Given the description of an element on the screen output the (x, y) to click on. 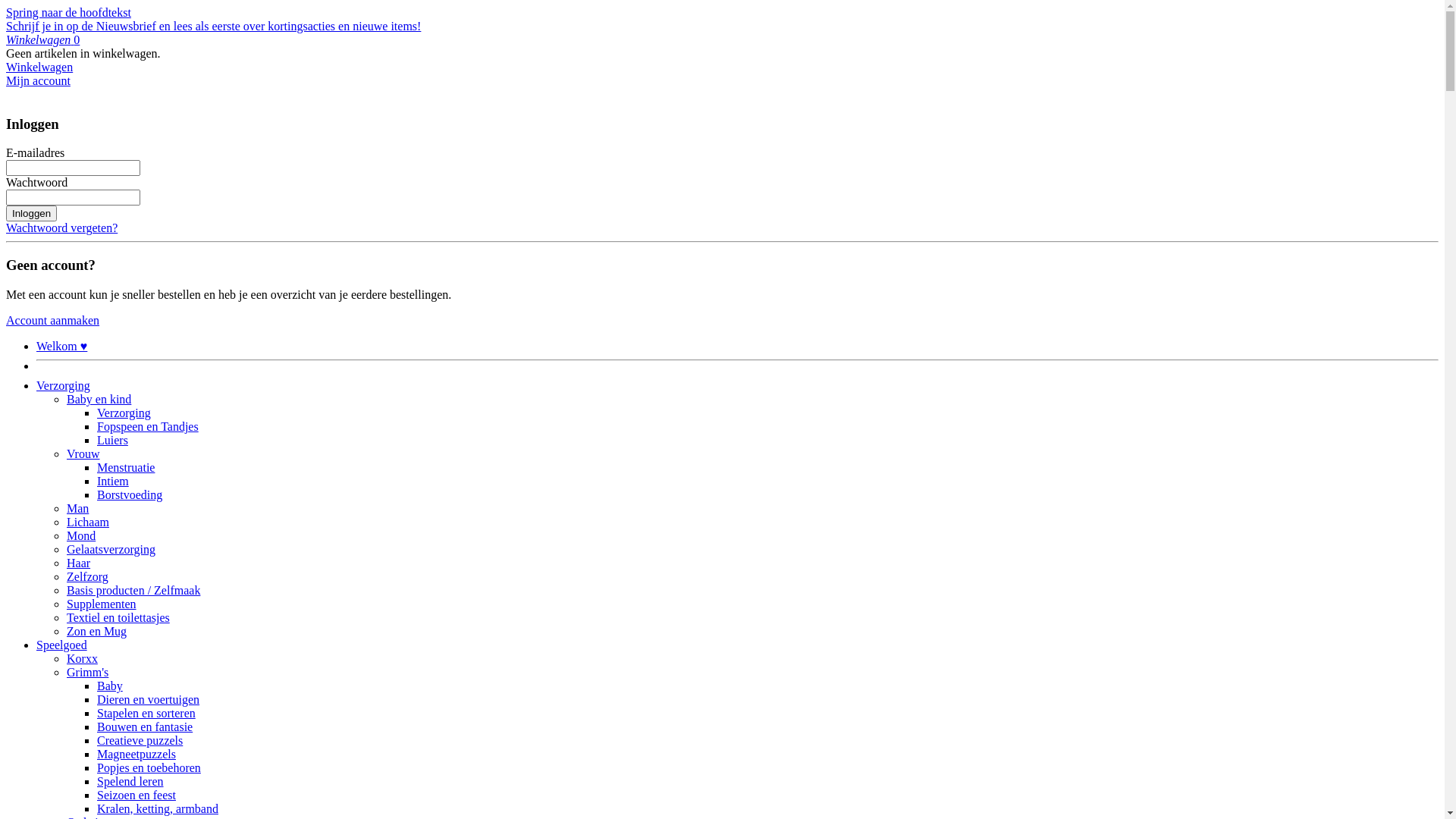
Winkelwagen 0 Element type: text (42, 39)
Verzorging Element type: text (63, 385)
Popjes en toebehoren Element type: text (148, 767)
Lichaam Element type: text (87, 521)
Winkelwagen Element type: text (39, 66)
Creatieve puzzels Element type: text (139, 740)
Vrouw Element type: text (82, 453)
Gelaatsverzorging Element type: text (110, 548)
Supplementen Element type: text (101, 603)
Fopspeen en Tandjes Element type: text (147, 426)
Speelgoed Element type: text (61, 644)
Mond Element type: text (80, 535)
Account aanmaken Element type: text (52, 319)
Baby en kind Element type: text (98, 398)
Wachtwoord vergeten? Element type: text (61, 227)
Korxx Element type: text (81, 658)
Menstruatie Element type: text (125, 467)
Magneetpuzzels Element type: text (136, 753)
Spring naar de hoofdtekst Element type: text (68, 12)
Zon en Mug Element type: text (96, 630)
Kralen, ketting, armband Element type: text (157, 808)
Spelend leren Element type: text (130, 781)
Dieren en voertuigen Element type: text (148, 699)
Verzorging Element type: text (123, 412)
Stapelen en sorteren Element type: text (146, 712)
Zelfzorg Element type: text (87, 576)
Textiel en toilettasjes Element type: text (117, 617)
Mijn account Element type: text (38, 80)
Haar Element type: text (78, 562)
Grimm's Element type: text (87, 671)
Intiem Element type: text (112, 480)
Inloggen Element type: text (31, 213)
Seizoen en feest Element type: text (136, 794)
Man Element type: text (77, 508)
Baby Element type: text (109, 685)
Luiers Element type: text (112, 439)
Bouwen en fantasie Element type: text (144, 726)
Basis producten / Zelfmaak Element type: text (133, 589)
Borstvoeding Element type: text (129, 494)
